Given the description of an element on the screen output the (x, y) to click on. 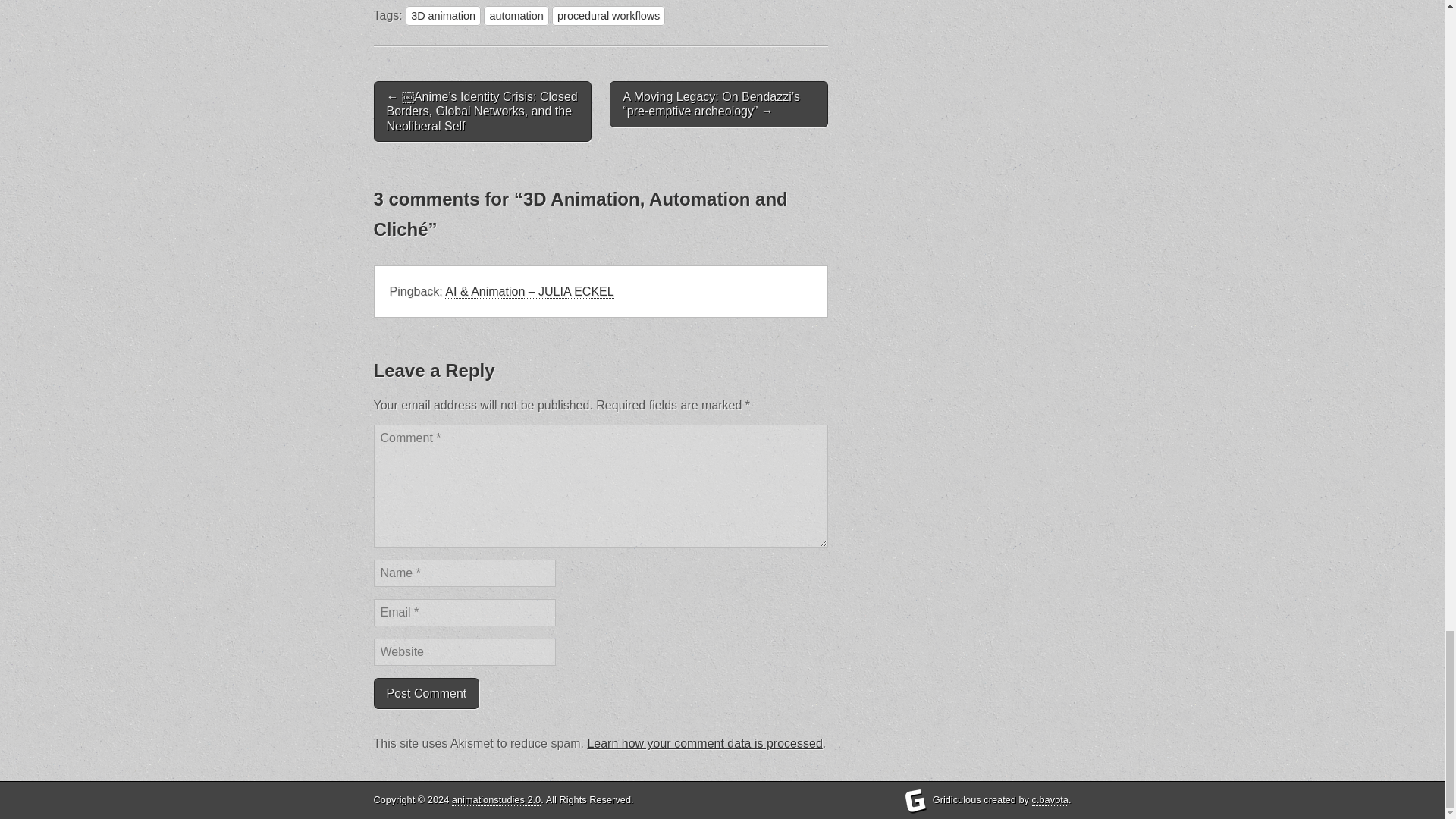
Learn how your comment data is processed (704, 743)
3D animation (443, 15)
Post Comment (425, 693)
automation (515, 15)
procedural workflows (608, 15)
Post Comment (425, 693)
